Given the description of an element on the screen output the (x, y) to click on. 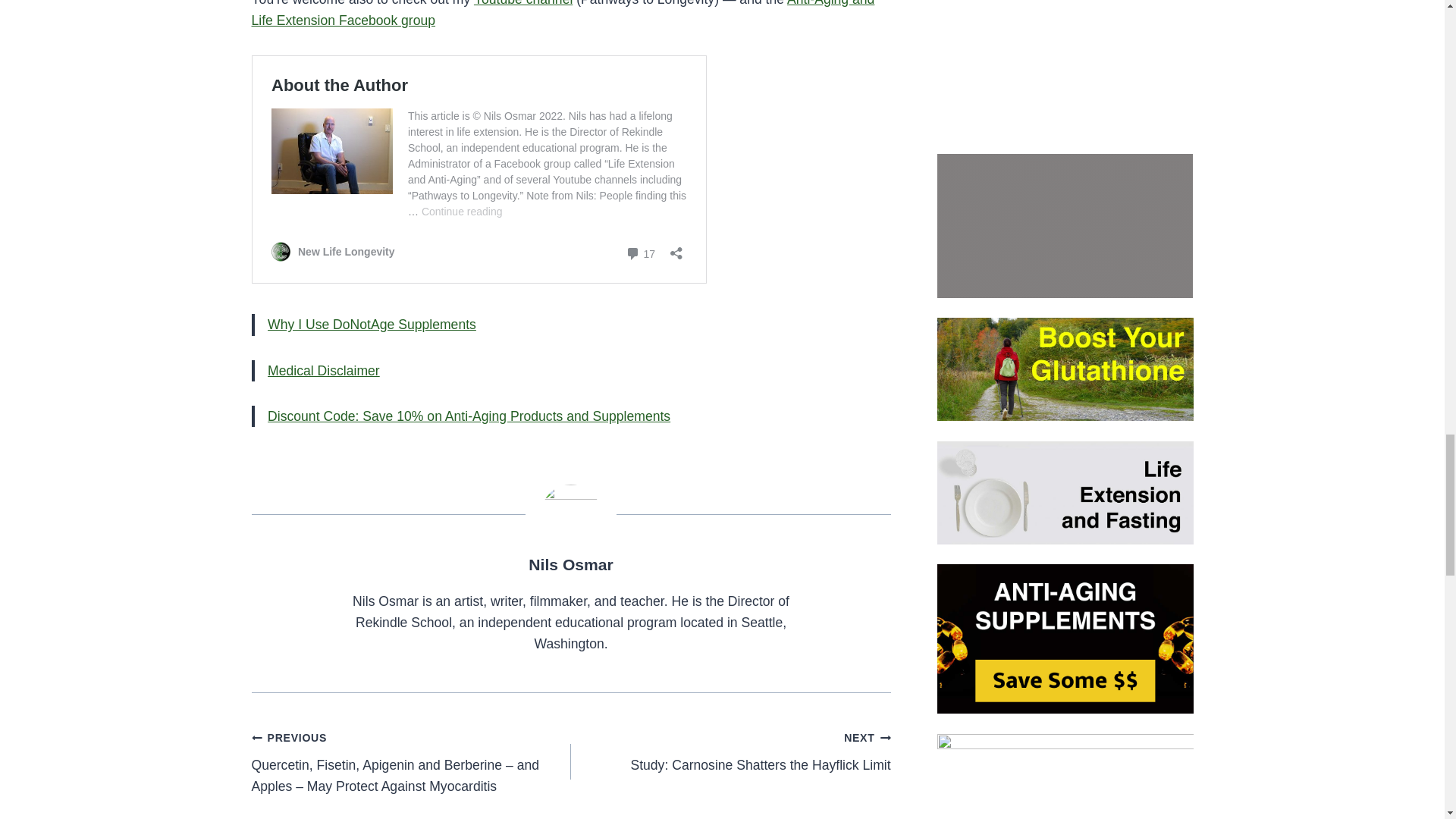
Posts by Nils Osmar (570, 564)
